Given the description of an element on the screen output the (x, y) to click on. 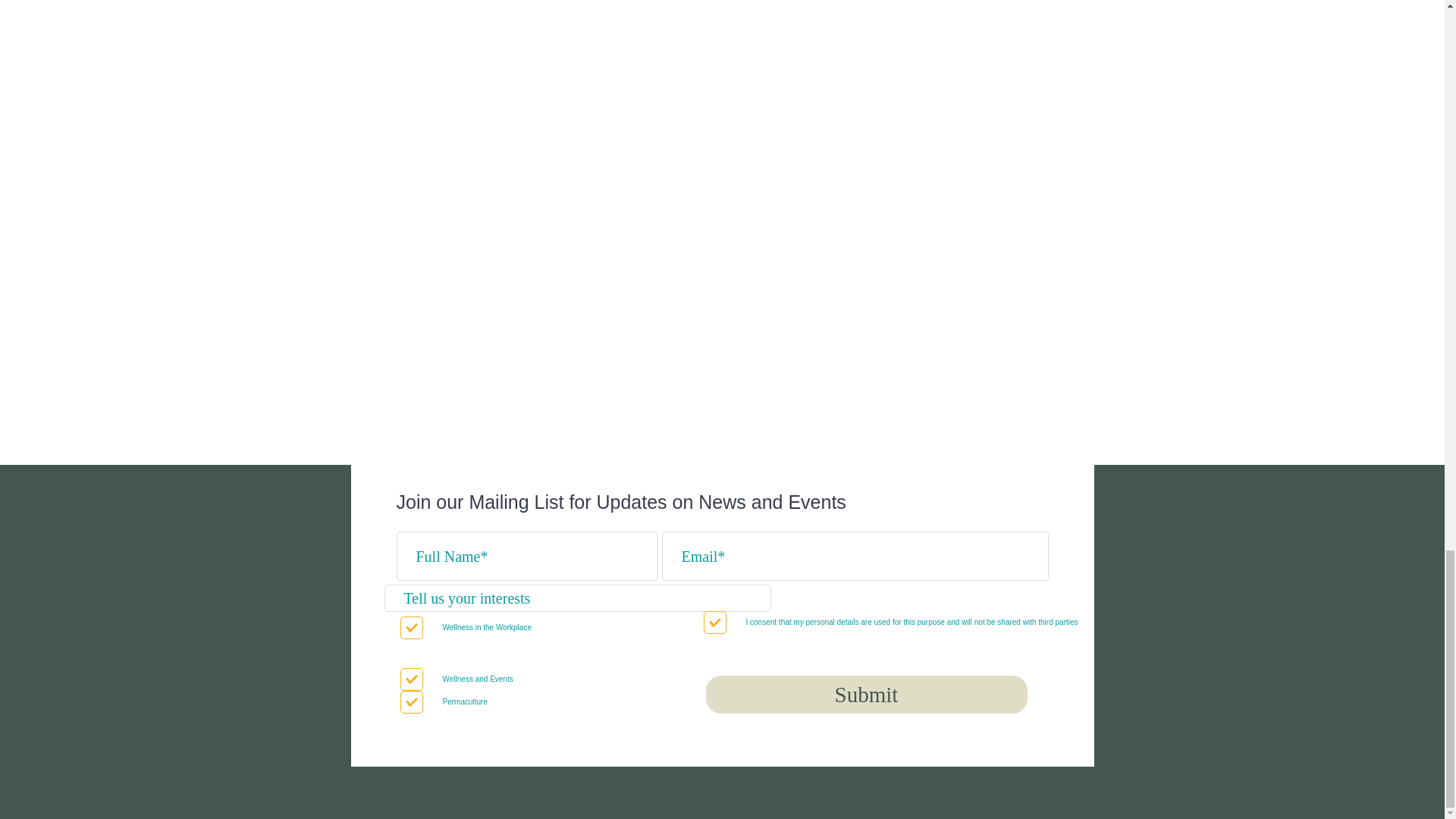
Submit (865, 694)
